Given the description of an element on the screen output the (x, y) to click on. 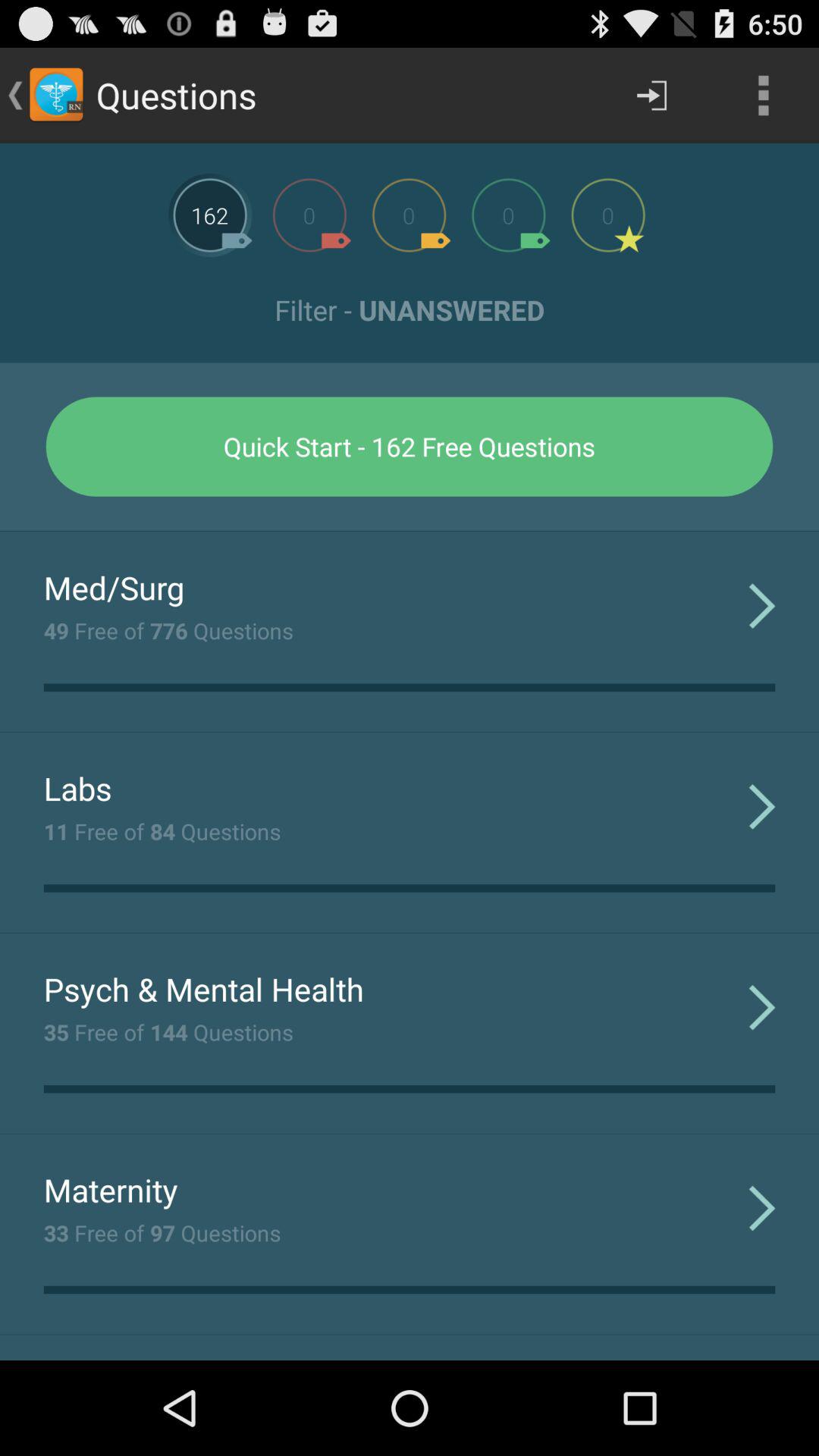
press item below 35 free of app (110, 1189)
